Given the description of an element on the screen output the (x, y) to click on. 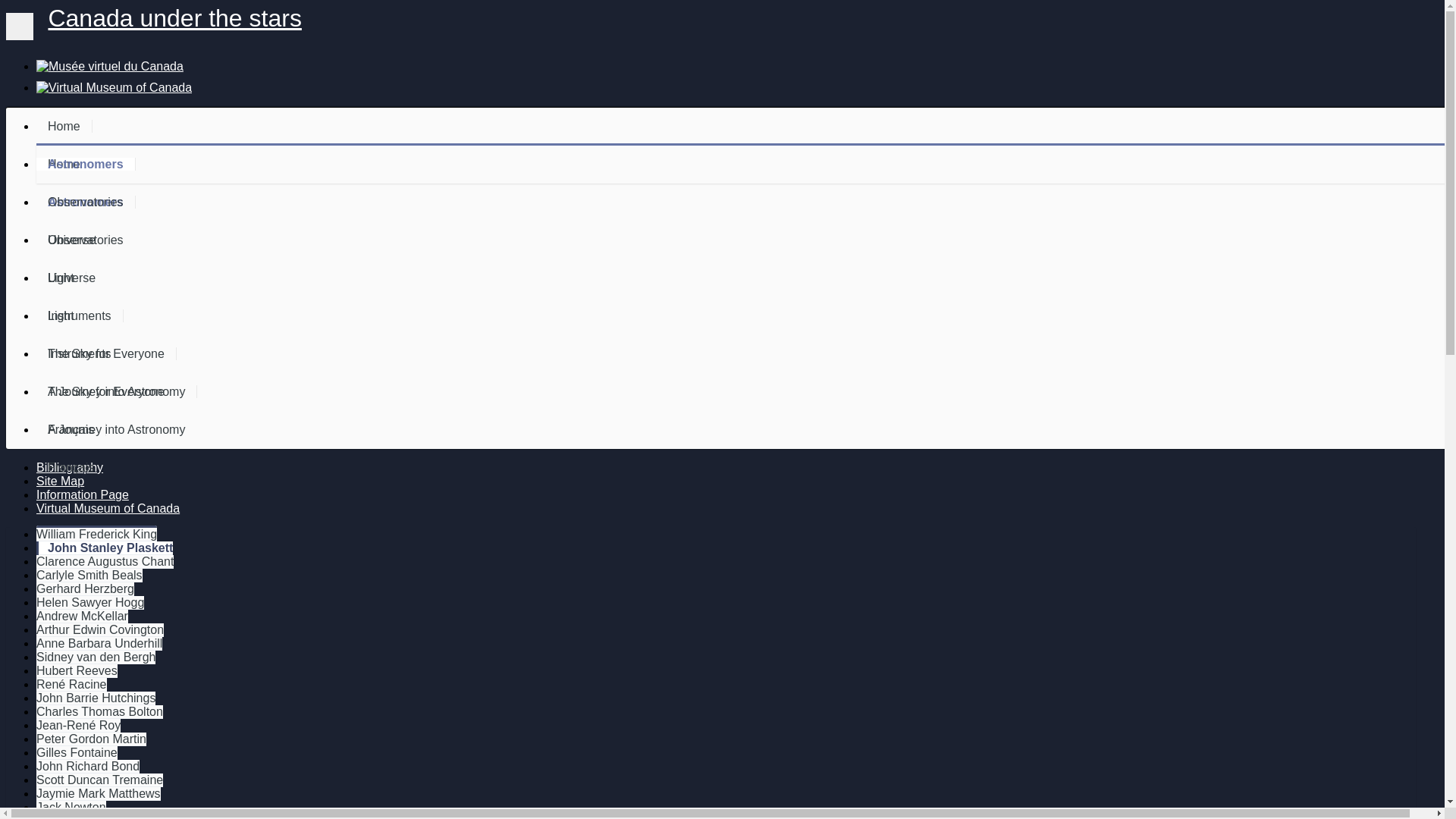
William Frederick King Element type: text (96, 533)
Home Element type: text (64, 125)
Bibliography Element type: text (69, 467)
John Barrie Hutchings Element type: text (95, 698)
Light Element type: text (61, 277)
Instruments Element type: text (79, 315)
Jack Newton Element type: text (71, 807)
The Sky for Everyone Element type: text (106, 353)
John Richard Bond Element type: text (87, 766)
Main navigation Element type: text (19, 26)
Sidney van den Bergh Element type: text (95, 657)
Charles Thomas Bolton Element type: text (99, 711)
Helen Sawyer Hogg Element type: text (90, 602)
Gilles Fontaine Element type: text (76, 752)
Jaymie Mark Matthews Element type: text (98, 793)
Gerhard Herzberg Element type: text (85, 589)
Andrew McKellar Element type: text (82, 616)
A Journey into Astronomy Element type: text (116, 391)
Site Map Element type: text (60, 480)
Universe Element type: text (71, 239)
Carlyle Smith Beals Element type: text (89, 575)
Arthur Edwin Covington Element type: text (99, 630)
Scott Duncan Tremaine Element type: text (99, 780)
Hubert Reeves Element type: text (76, 670)
John Stanley Plaskett Element type: text (105, 548)
Clarence Augustus Chant Element type: text (104, 561)
Skip to main navigation Element type: text (5, 5)
Astronomers Element type: text (85, 163)
Anne Barbara Underhill Element type: text (99, 643)
Virtual Museum of Canada Element type: text (107, 508)
Information Page Element type: text (82, 494)
Observatories Element type: text (85, 201)
Peter Gordon Martin Element type: text (91, 739)
